Given the description of an element on the screen output the (x, y) to click on. 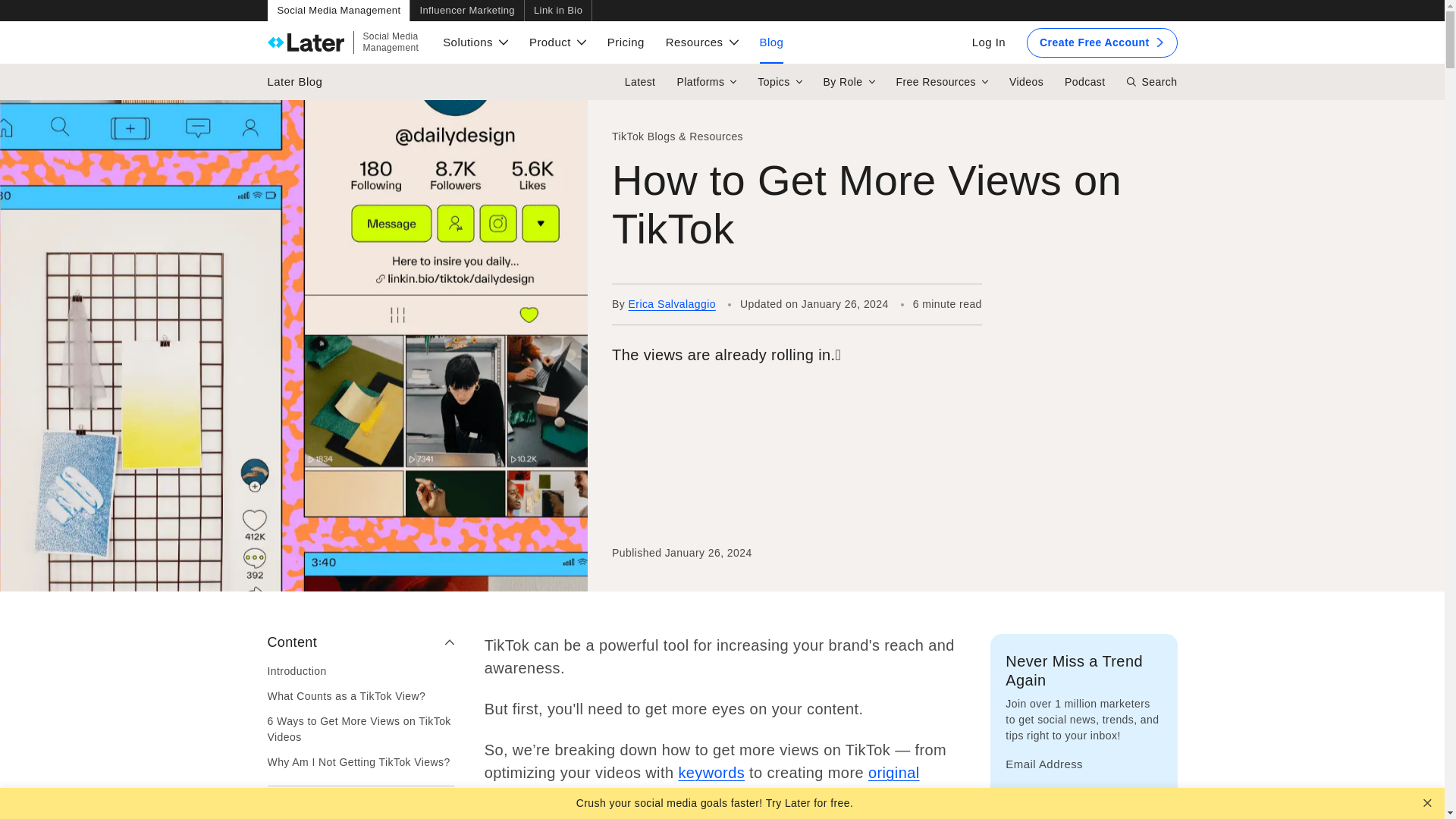
Solutions (474, 42)
Influencer Marketing (466, 10)
Pricing (625, 42)
Product (342, 42)
Social Media Management (557, 42)
Link in Bio (337, 10)
